Given the description of an element on the screen output the (x, y) to click on. 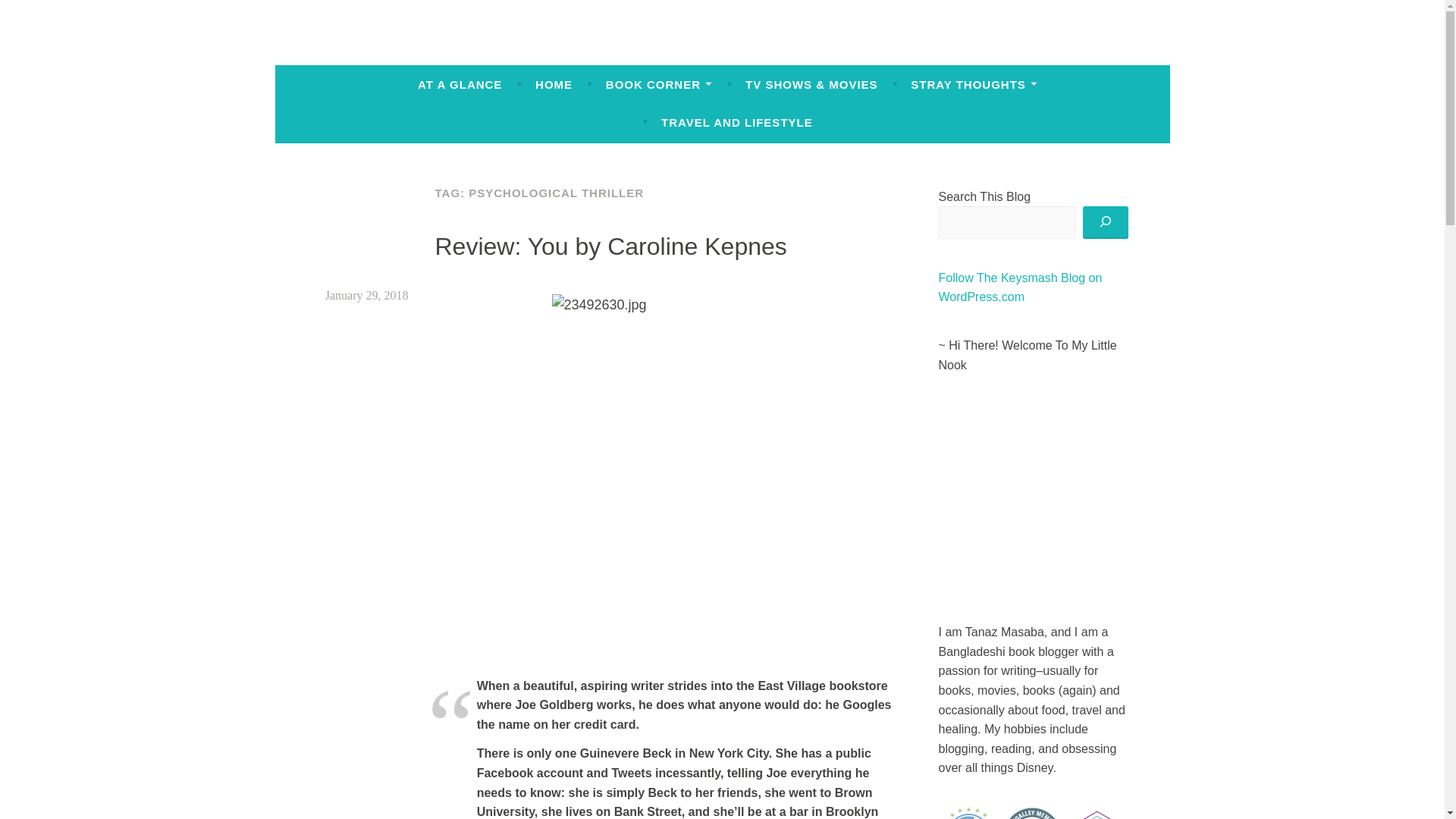
Review: You by Caroline Kepnes (611, 246)
AT A GLANCE (459, 84)
HOME (553, 84)
25 Book Reviews (1095, 812)
BOOK CORNER (659, 84)
January 29, 2018 (366, 295)
Professional Reader (1032, 812)
STRAY THOUGHTS (973, 84)
Reviews Published (968, 812)
TRAVEL AND LIFESTYLE (736, 122)
The Keysmash Blog (462, 51)
